Given the description of an element on the screen output the (x, y) to click on. 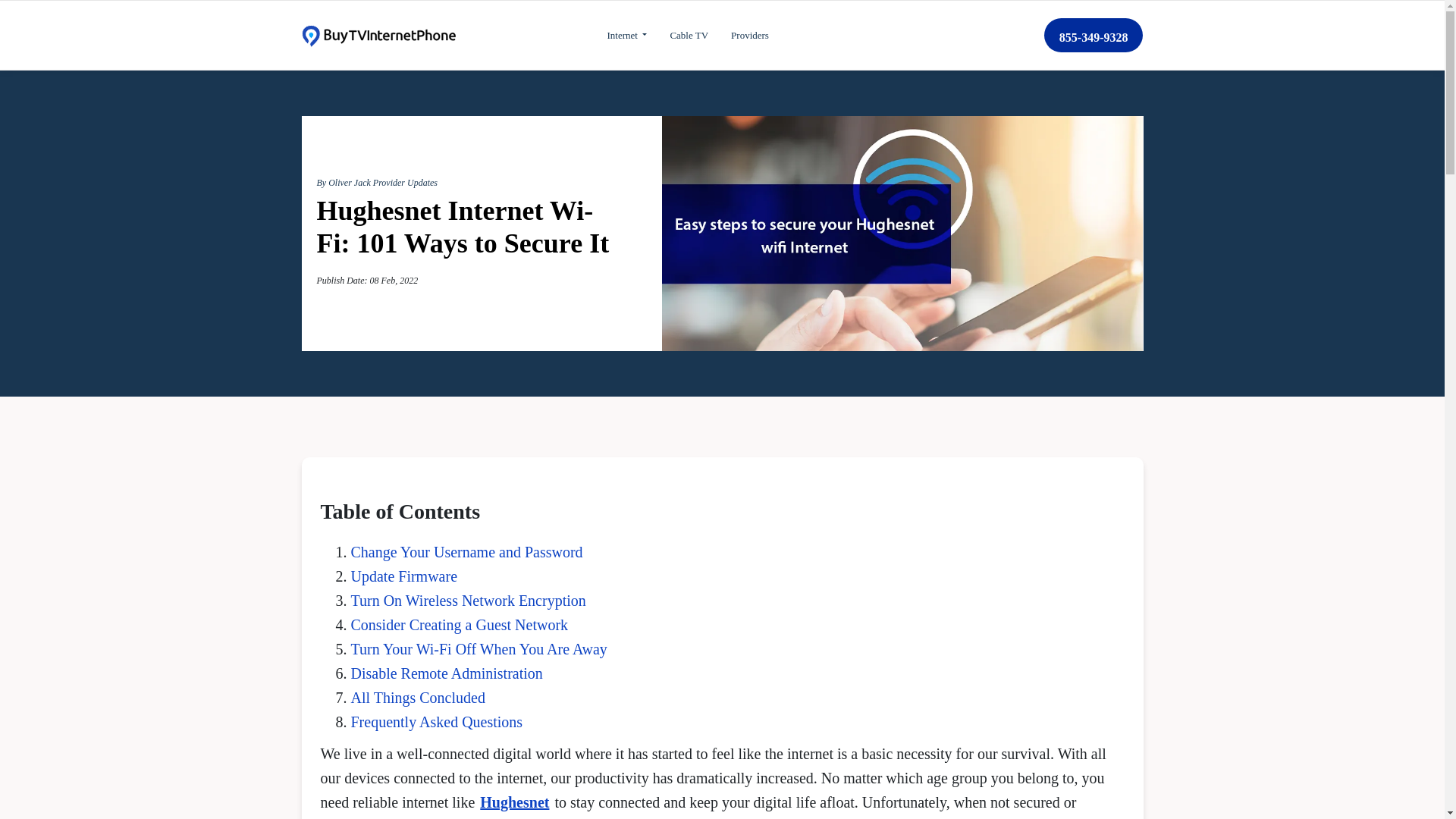
Turn On Wireless Network Encryption (467, 600)
Update Firmware (403, 576)
Providers (749, 34)
Cable TV (688, 34)
Hughesnet (514, 801)
Turn Your Wi-Fi Off When You Are Away (478, 648)
Internet (626, 34)
BuyTVInternetPhone (378, 34)
Consider Creating a Guest Network (458, 624)
Disable Remote Administration (445, 673)
By Oliver Jack (344, 182)
Provider Updates (405, 182)
Change Your Username and Password (466, 551)
All Things Concluded (417, 697)
855-349-9328 (1092, 35)
